Given the description of an element on the screen output the (x, y) to click on. 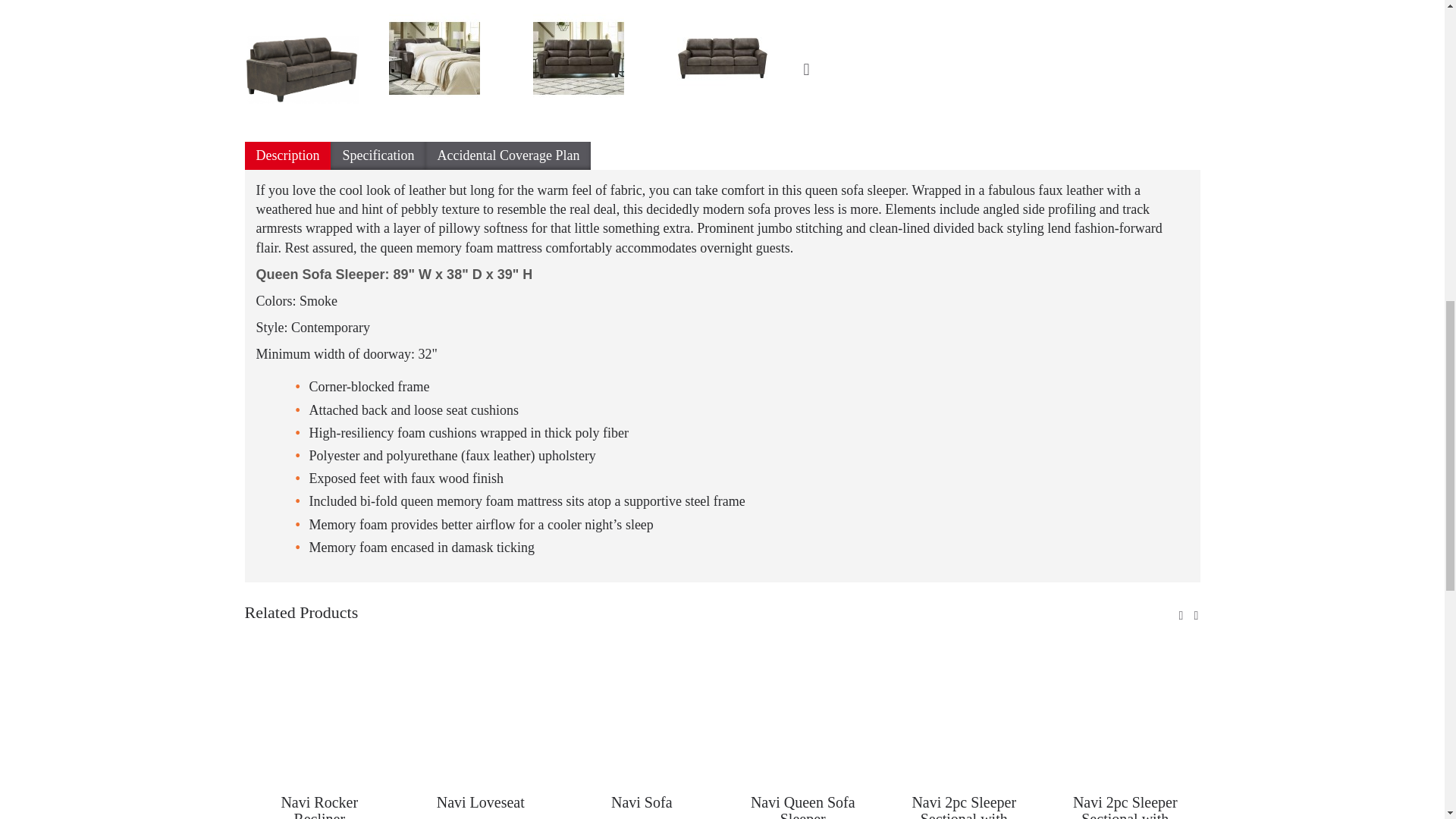
Navi Queen Sofa Sleeper (314, 69)
Navi Queen Sofa Sleeper (578, 58)
Navi Queen Sofa Sleeper (458, 69)
Navi Queen Sofa Sleeper (434, 58)
Navi Queen Sofa Sleeper (746, 69)
Navi Queen Sofa Sleeper (301, 69)
Navi Queen Sofa Sleeper (602, 69)
Navi Queen Sofa Sleeper (722, 58)
